Given the description of an element on the screen output the (x, y) to click on. 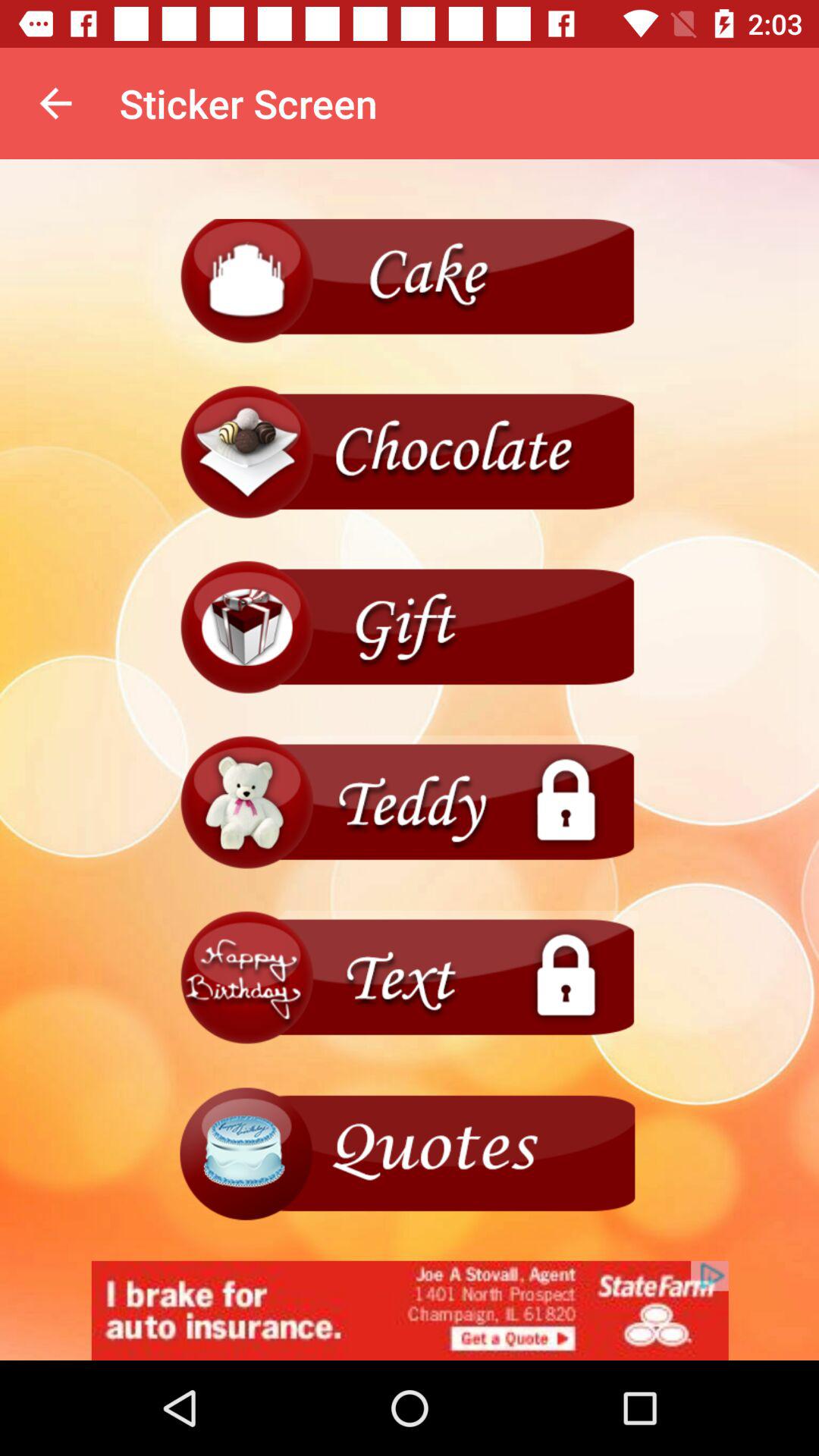
advertisent page (409, 1153)
